Given the description of an element on the screen output the (x, y) to click on. 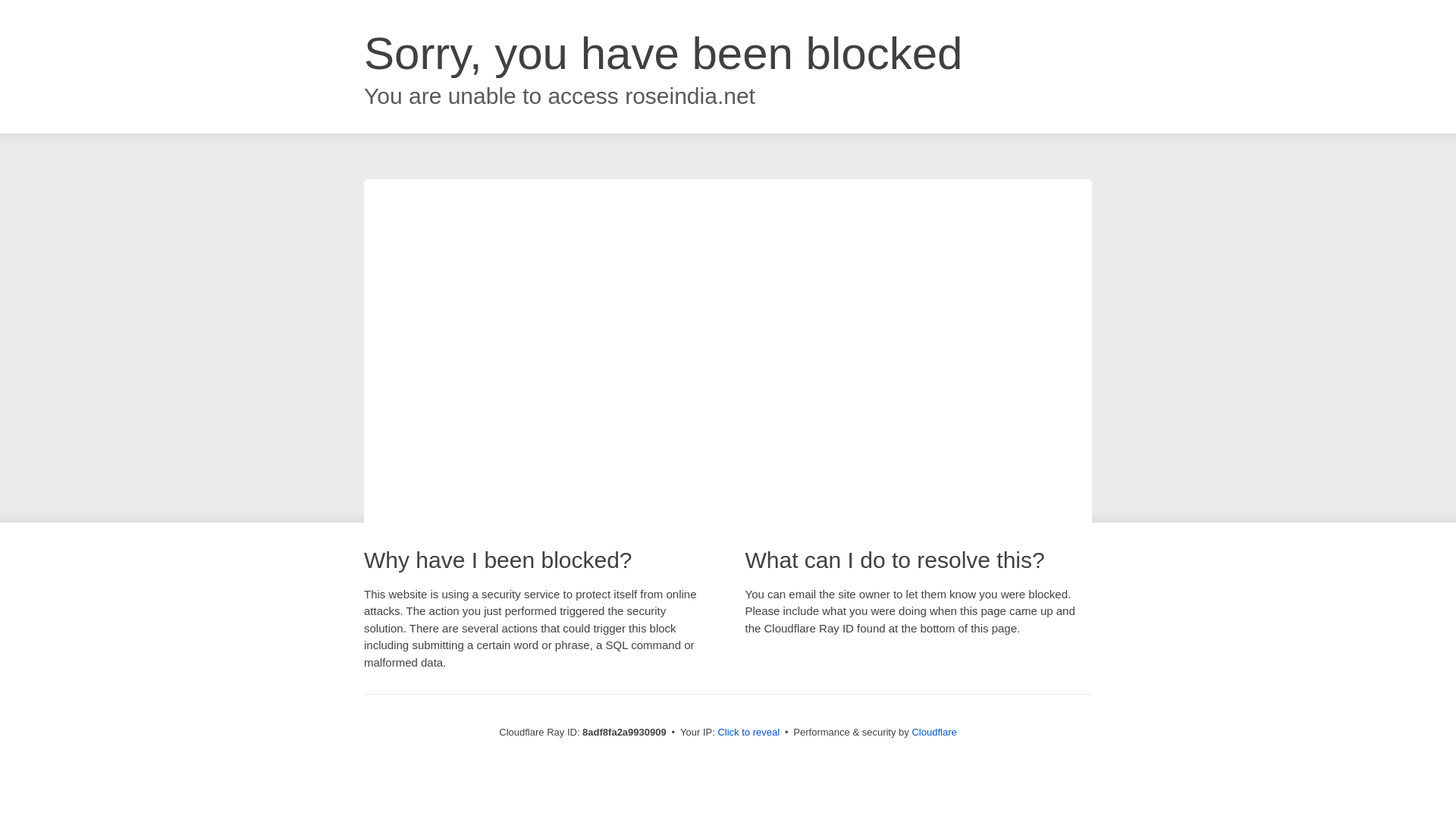
Click to reveal (747, 732)
Cloudflare (933, 731)
